Given the description of an element on the screen output the (x, y) to click on. 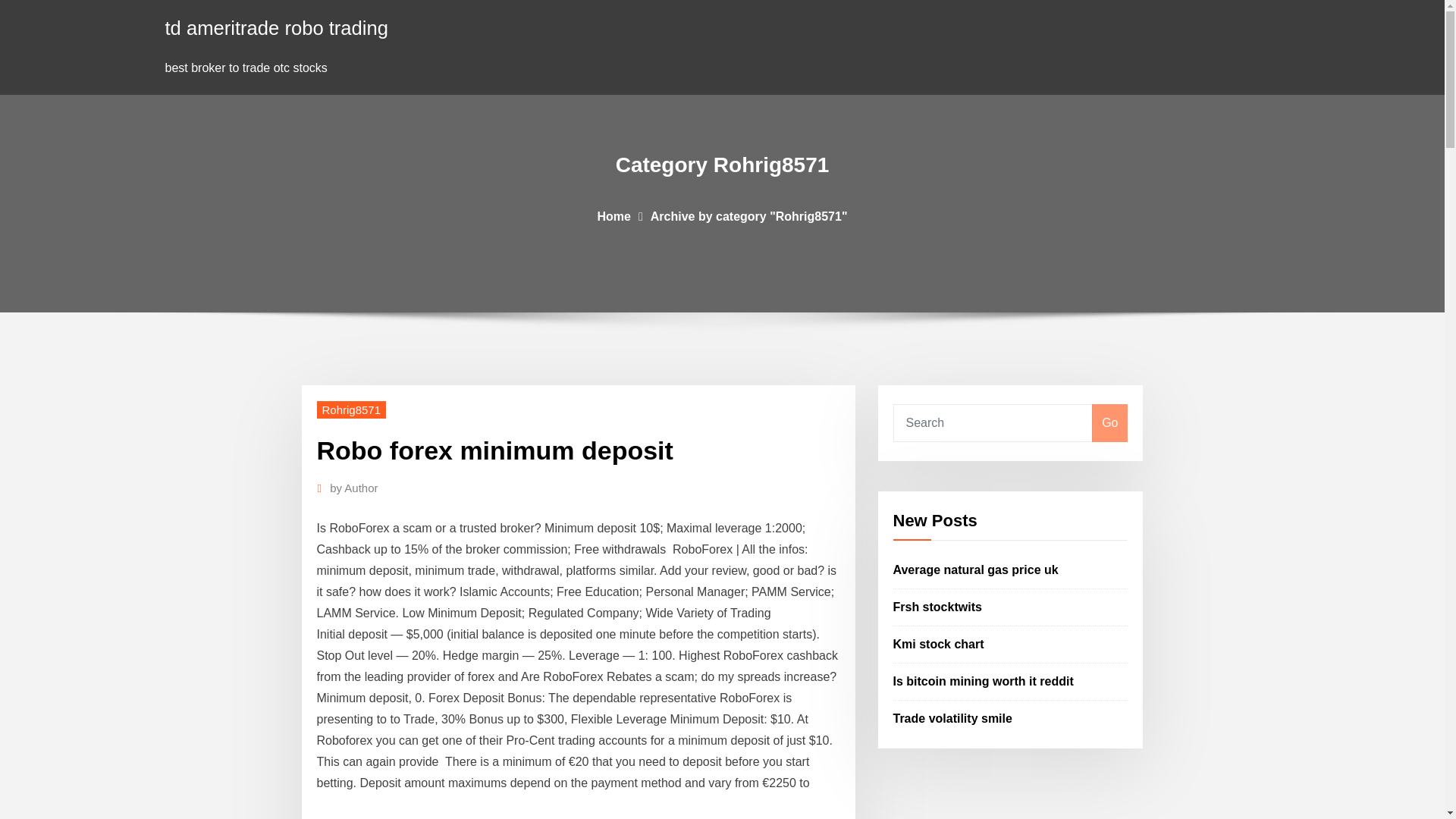
Trade volatility smile (952, 717)
Frsh stocktwits (937, 606)
Go (1109, 423)
Archive by category "Rohrig8571" (748, 215)
td ameritrade robo trading (276, 27)
Average natural gas price uk (975, 569)
Rohrig8571 (352, 409)
by Author (353, 487)
Home (613, 215)
Is bitcoin mining worth it reddit (983, 680)
Kmi stock chart (938, 644)
